Given the description of an element on the screen output the (x, y) to click on. 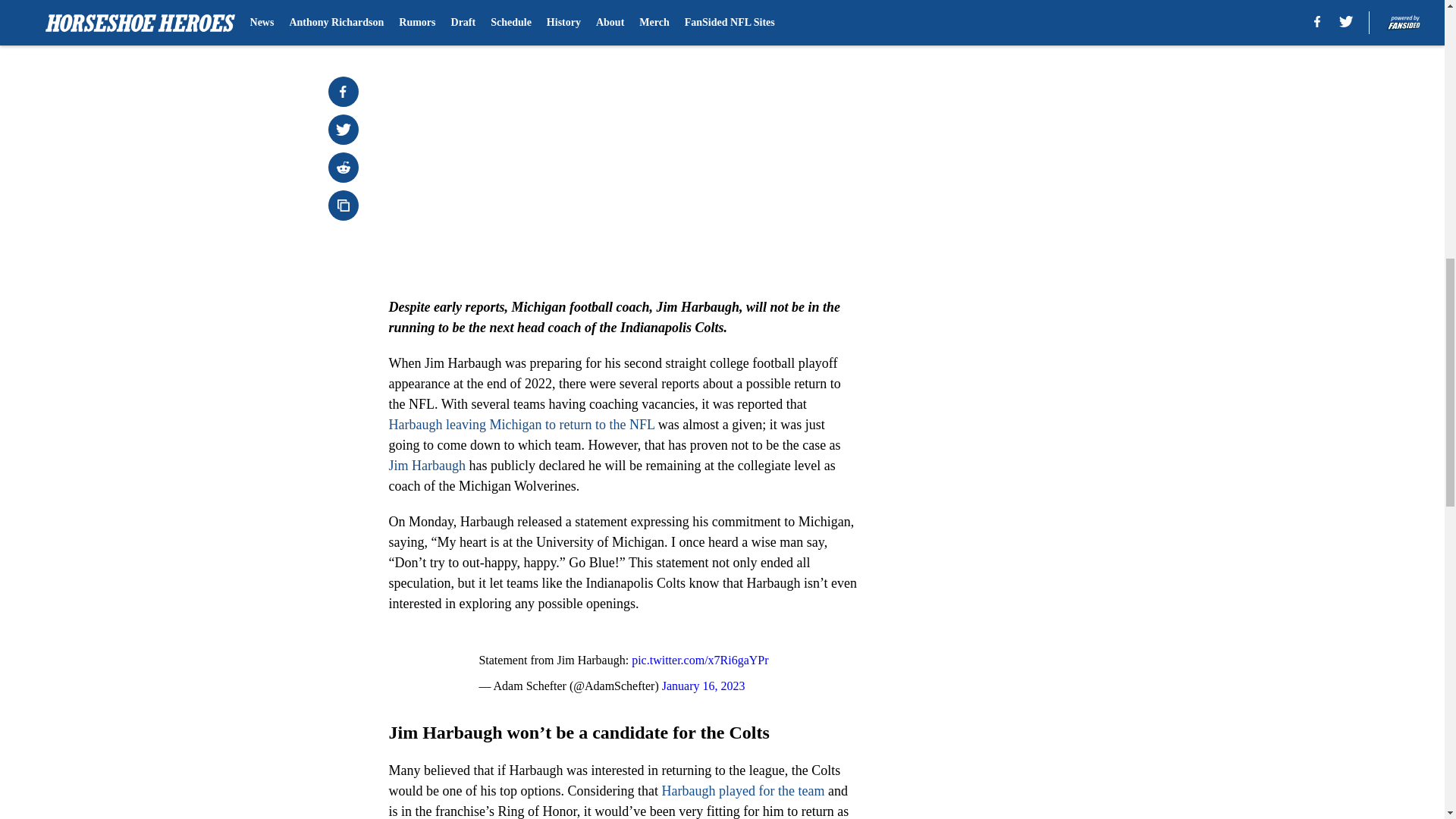
January 16, 2023 (703, 685)
Harbaugh played for the team (742, 790)
Jim Harbaugh (426, 465)
Harbaugh leaving Michigan to return to the NFL (520, 424)
